Given the description of an element on the screen output the (x, y) to click on. 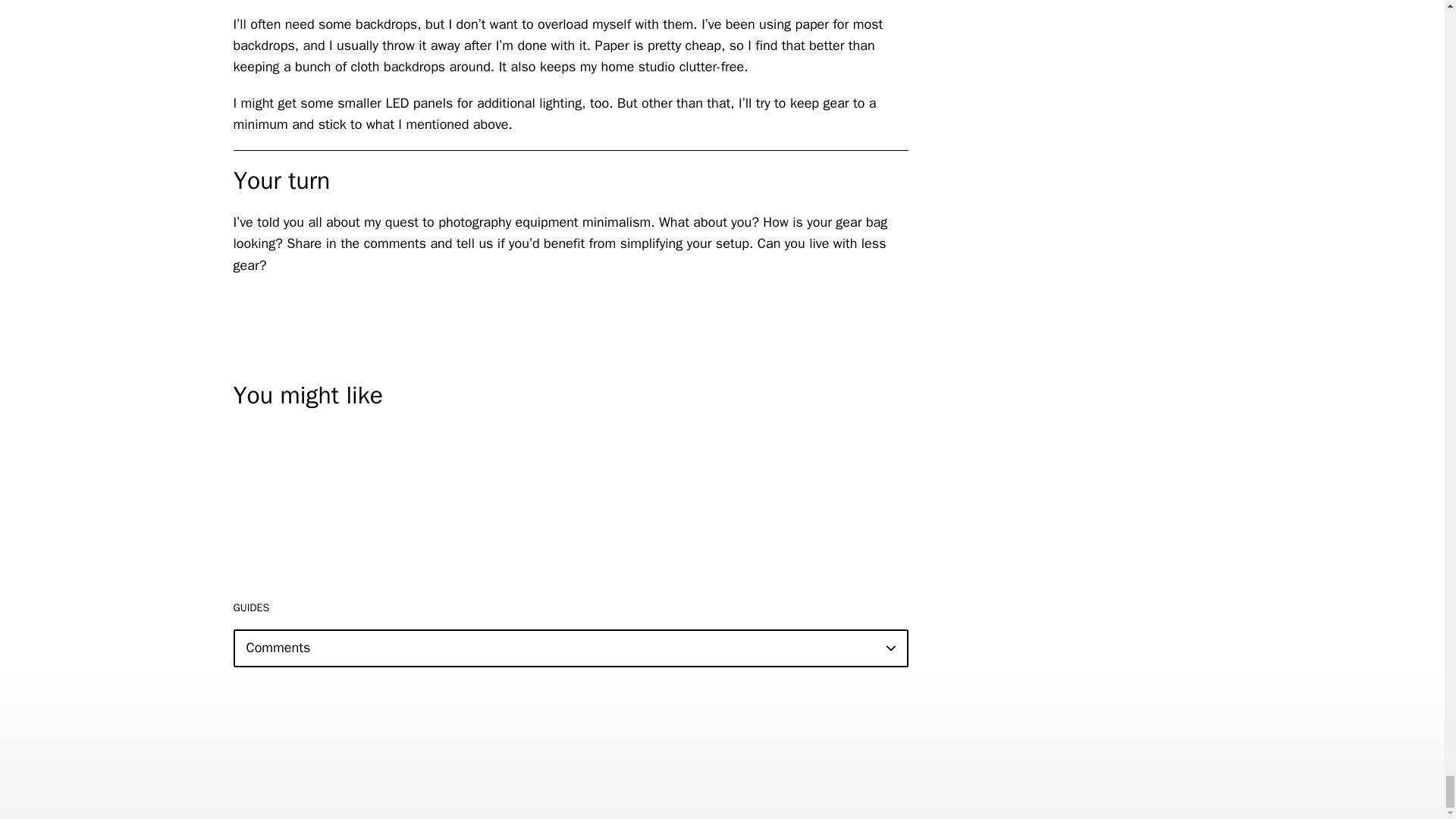
GUIDES (250, 607)
Comments (570, 648)
